Given the description of an element on the screen output the (x, y) to click on. 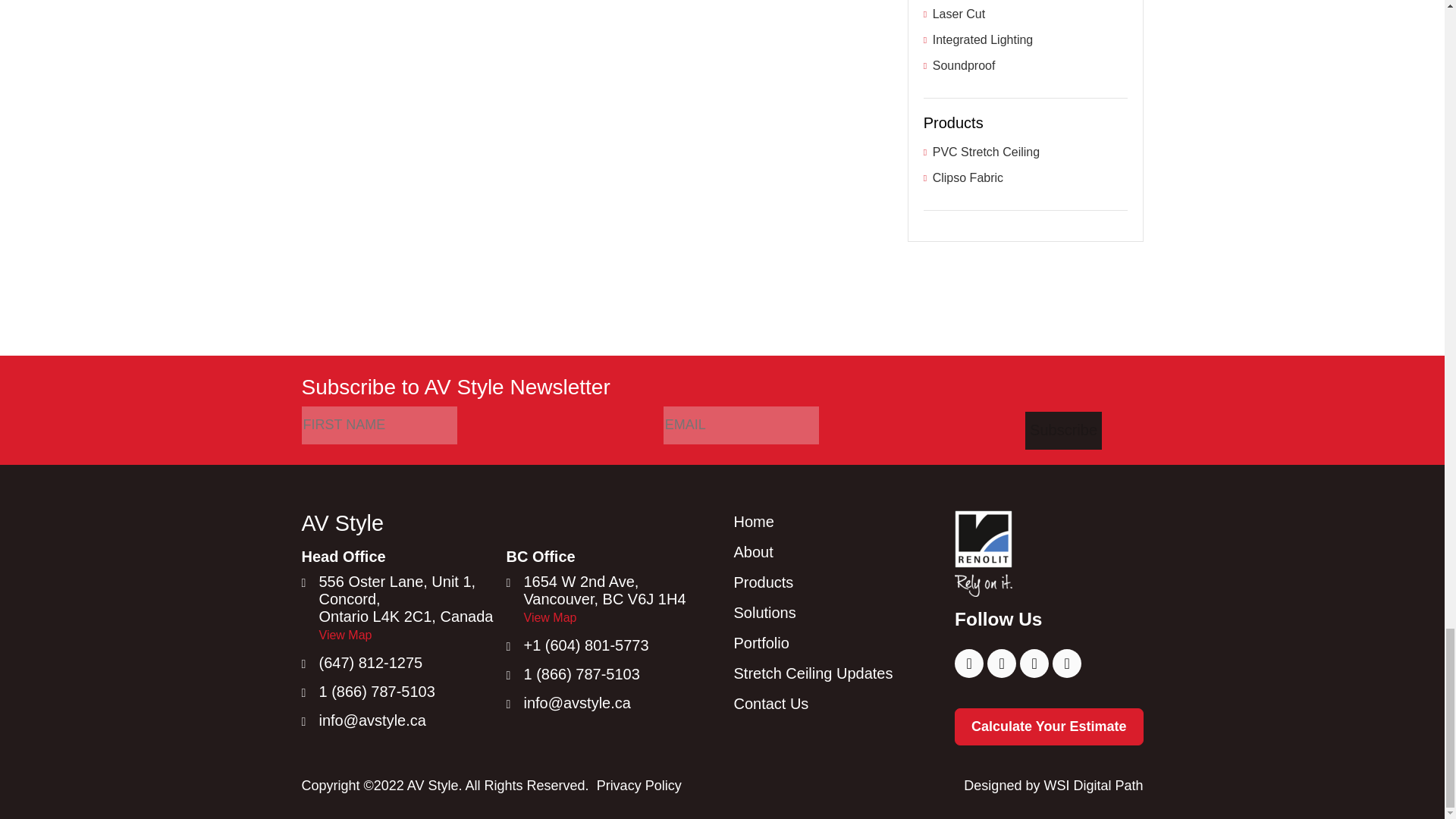
Subscribe (1063, 430)
